Given the description of an element on the screen output the (x, y) to click on. 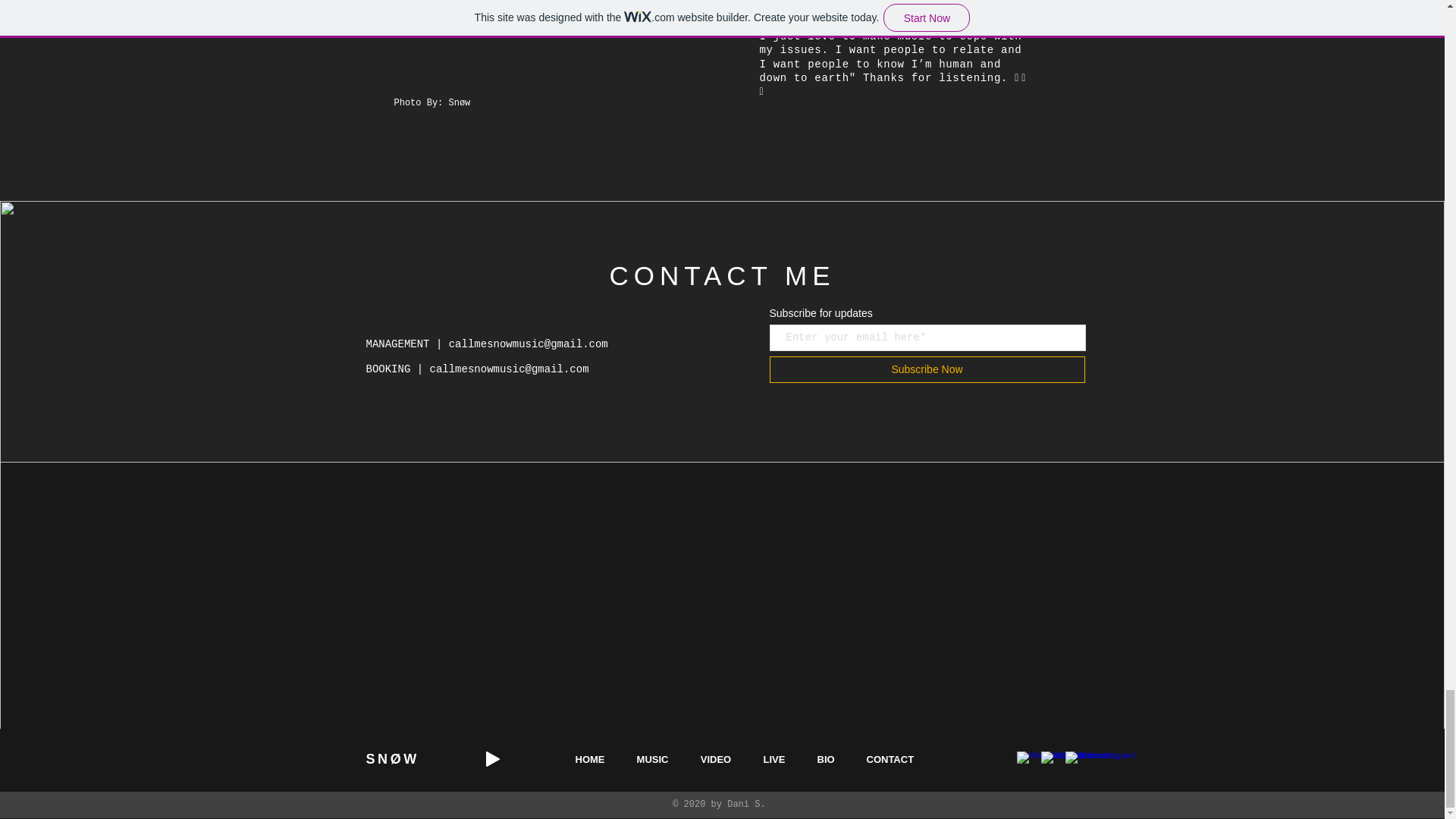
Subscribe Now (926, 369)
